Given the description of an element on the screen output the (x, y) to click on. 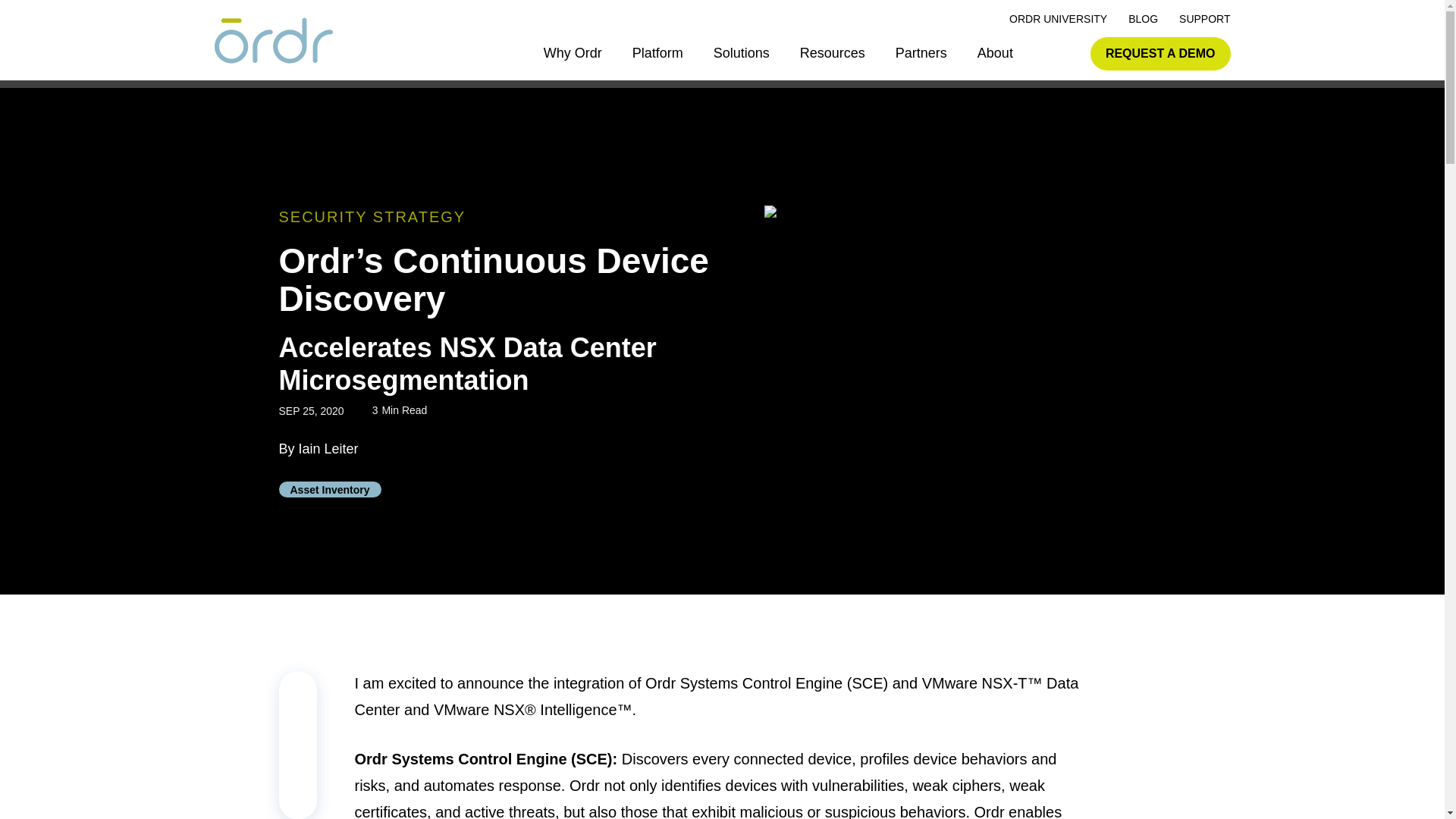
Copy Link (298, 689)
Resources (832, 53)
X (298, 763)
Ordr (272, 41)
SUPPORT (1204, 19)
Platform (657, 53)
Why Ordr (572, 53)
Solutions (741, 53)
BLOG (1142, 19)
ORDR UNIVERSITY (1057, 19)
